Given the description of an element on the screen output the (x, y) to click on. 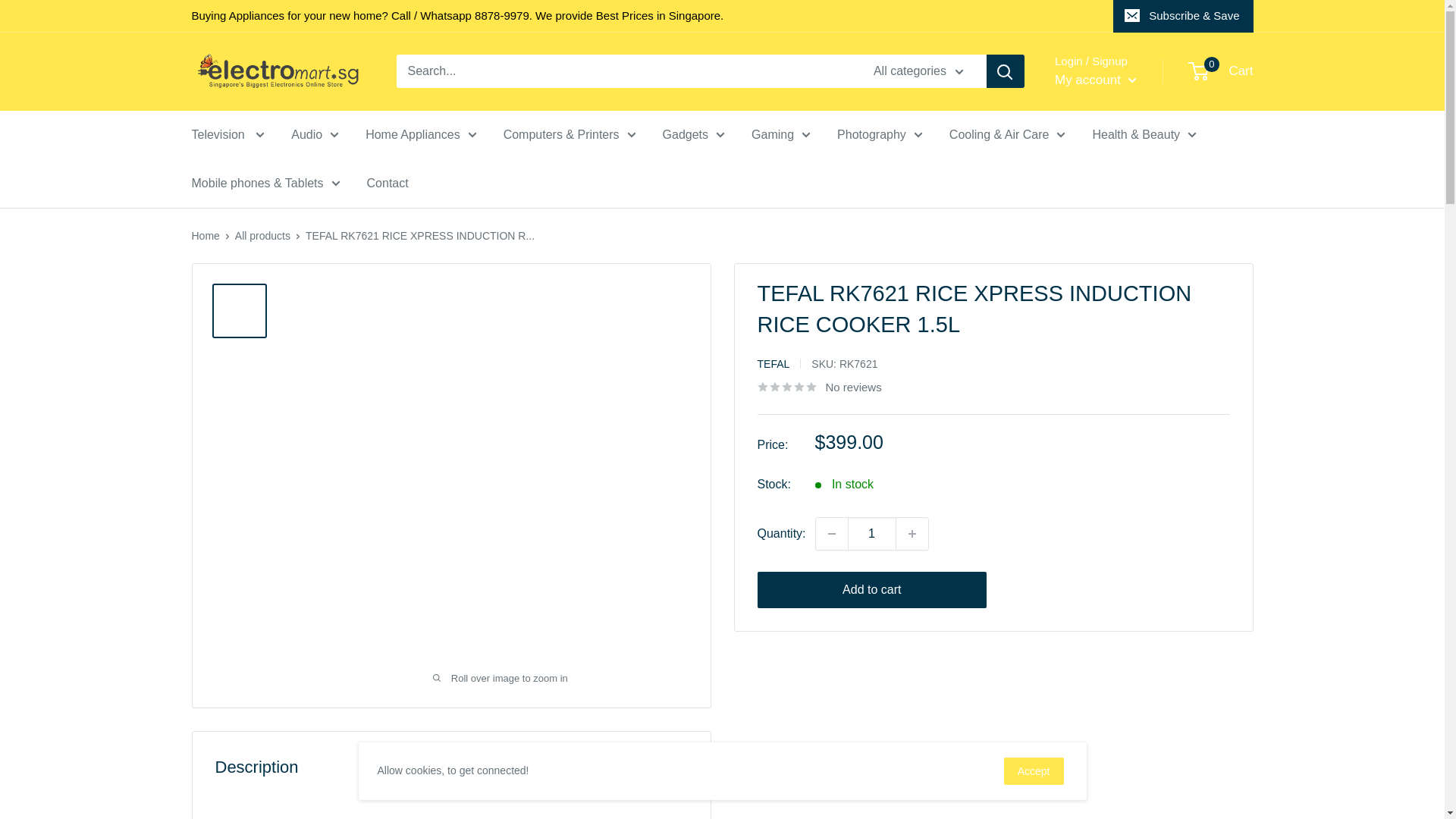
Decrease quantity by 1 (831, 533)
Increase quantity by 1 (912, 533)
1 (871, 533)
